Given the description of an element on the screen output the (x, y) to click on. 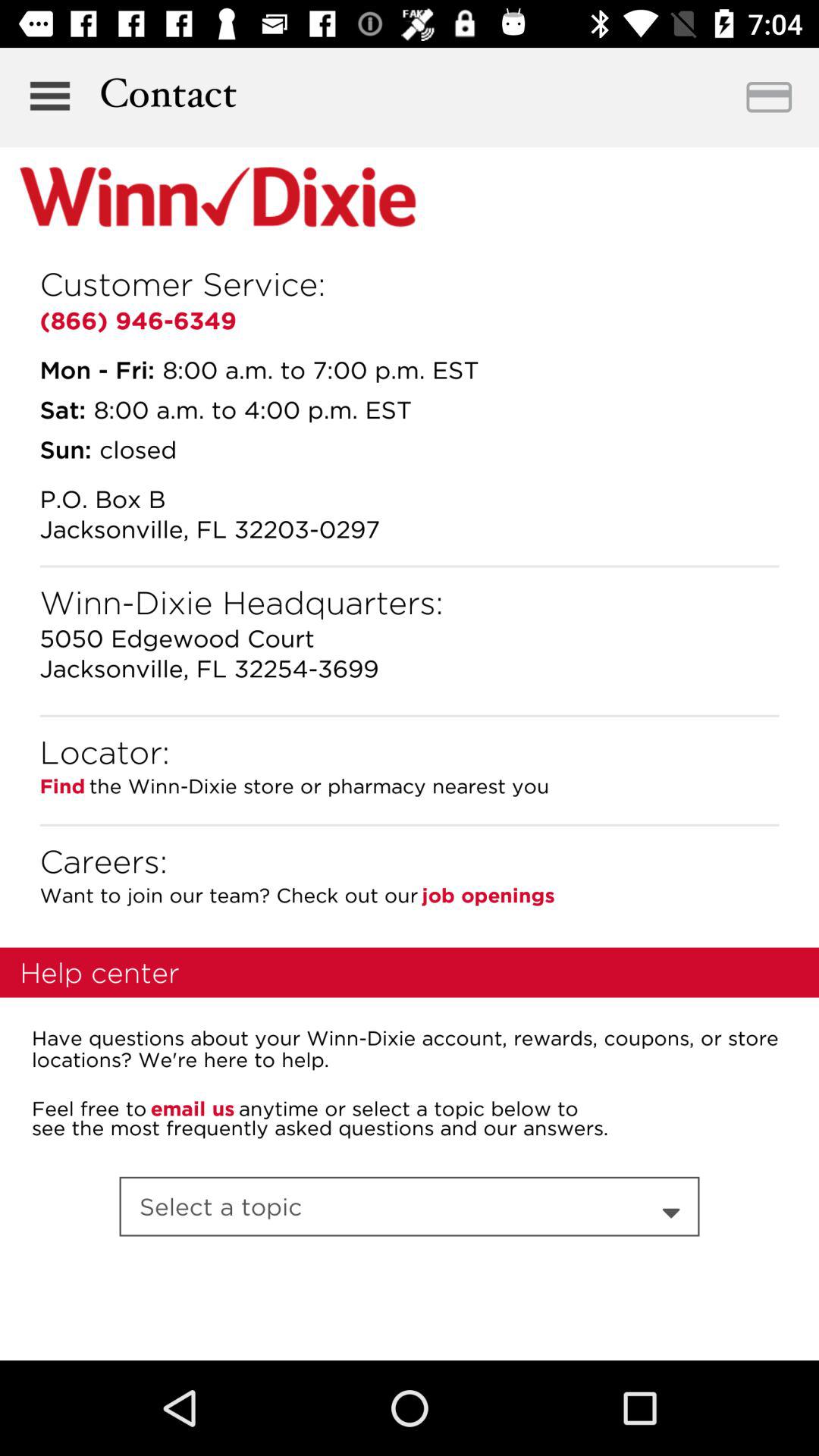
turn on the icon next to 8 00 a item (62, 409)
